Given the description of an element on the screen output the (x, y) to click on. 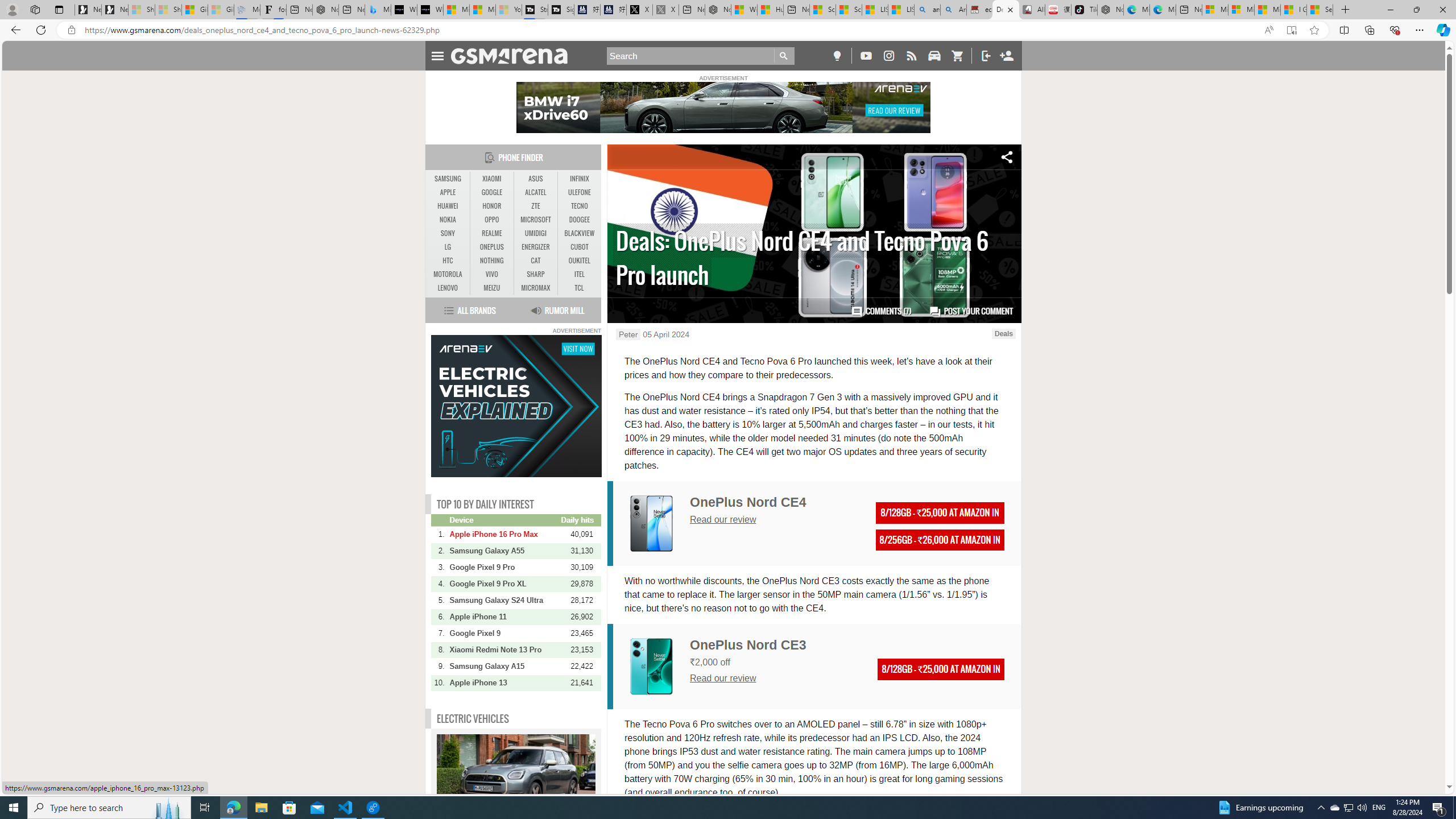
Huge shark washes ashore at New York City beach | Watch (769, 9)
SHARP (535, 273)
VIVO (491, 273)
NOTHING (491, 260)
CAT (535, 260)
NOTHING (491, 260)
DOOGEE (579, 219)
HONOR (491, 206)
SONY (448, 233)
TCL (579, 287)
MEIZU (491, 287)
LG (448, 246)
